Given the description of an element on the screen output the (x, y) to click on. 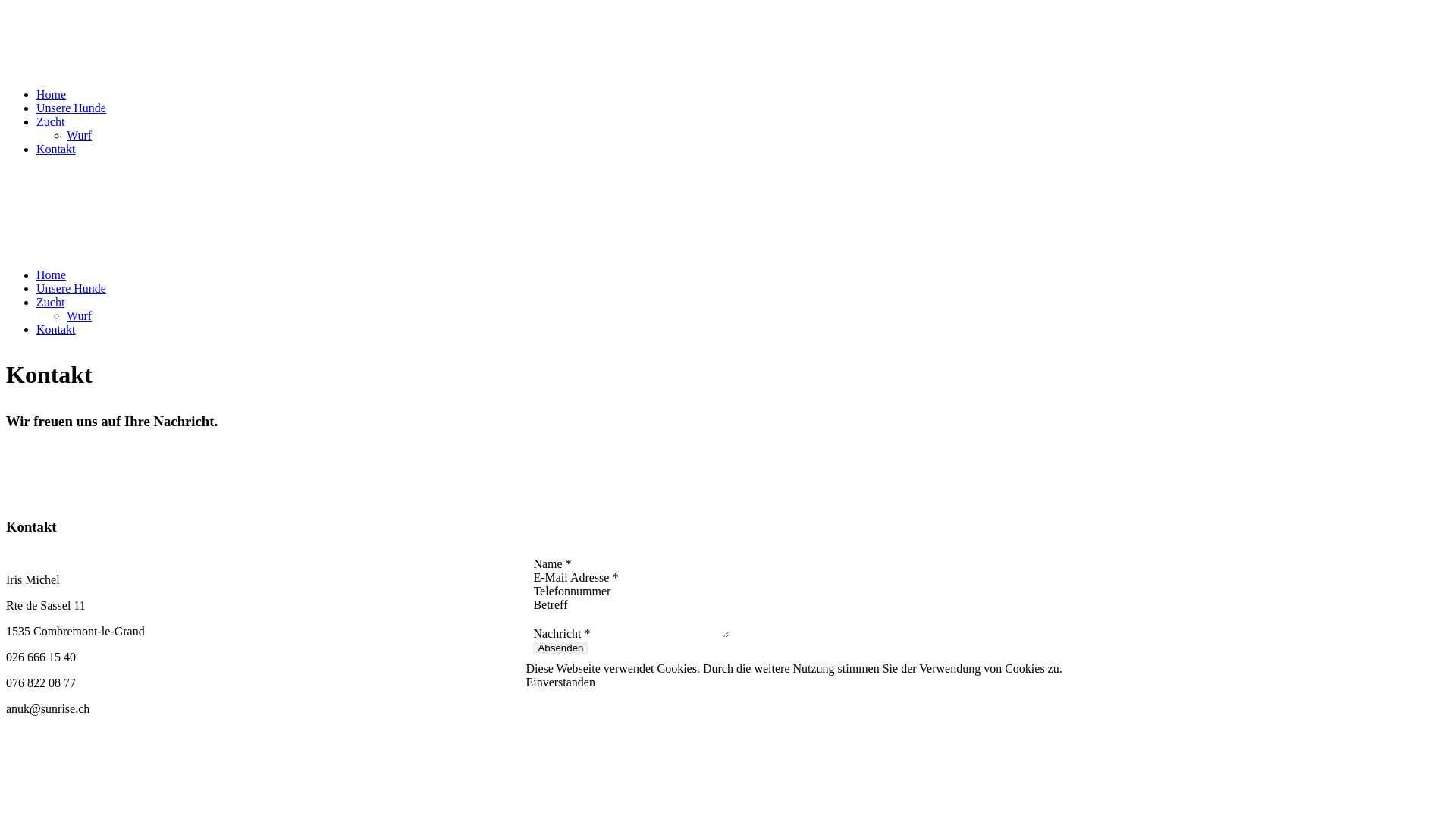
Zucht Element type: text (50, 121)
Home Element type: text (50, 93)
Unsere Hunde Element type: text (71, 288)
Unsere Hunde Element type: text (71, 107)
Zucht Element type: text (50, 301)
Wurf Element type: text (78, 315)
Kontakt Element type: text (55, 329)
Wurf Element type: text (78, 134)
Absenden Element type: text (560, 647)
Home Element type: text (50, 274)
Kontakt Element type: text (55, 148)
